Given the description of an element on the screen output the (x, y) to click on. 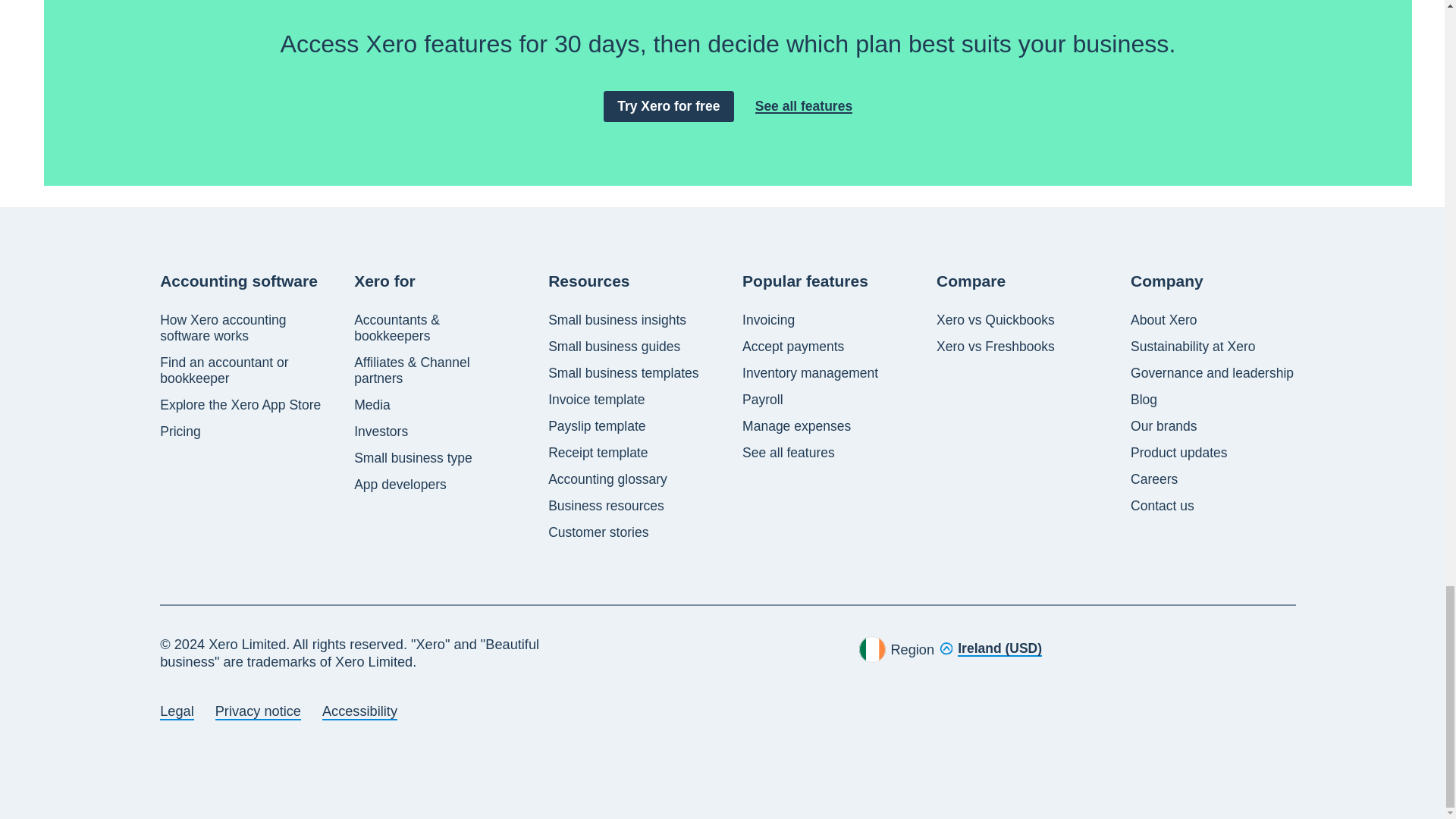
Accounting glossary (607, 479)
Investors (380, 431)
App developers (399, 484)
Small business guides (613, 346)
Receipt template (597, 453)
See all features (803, 106)
Invoice template (596, 399)
Find an accountant or bookkeeper (242, 370)
Try Xero for free (668, 106)
How Xero accounting software works (242, 327)
Payslip template (596, 426)
Explore the Xero App Store (240, 405)
Small business type (412, 458)
Pricing (180, 431)
Small business templates (623, 373)
